Given the description of an element on the screen output the (x, y) to click on. 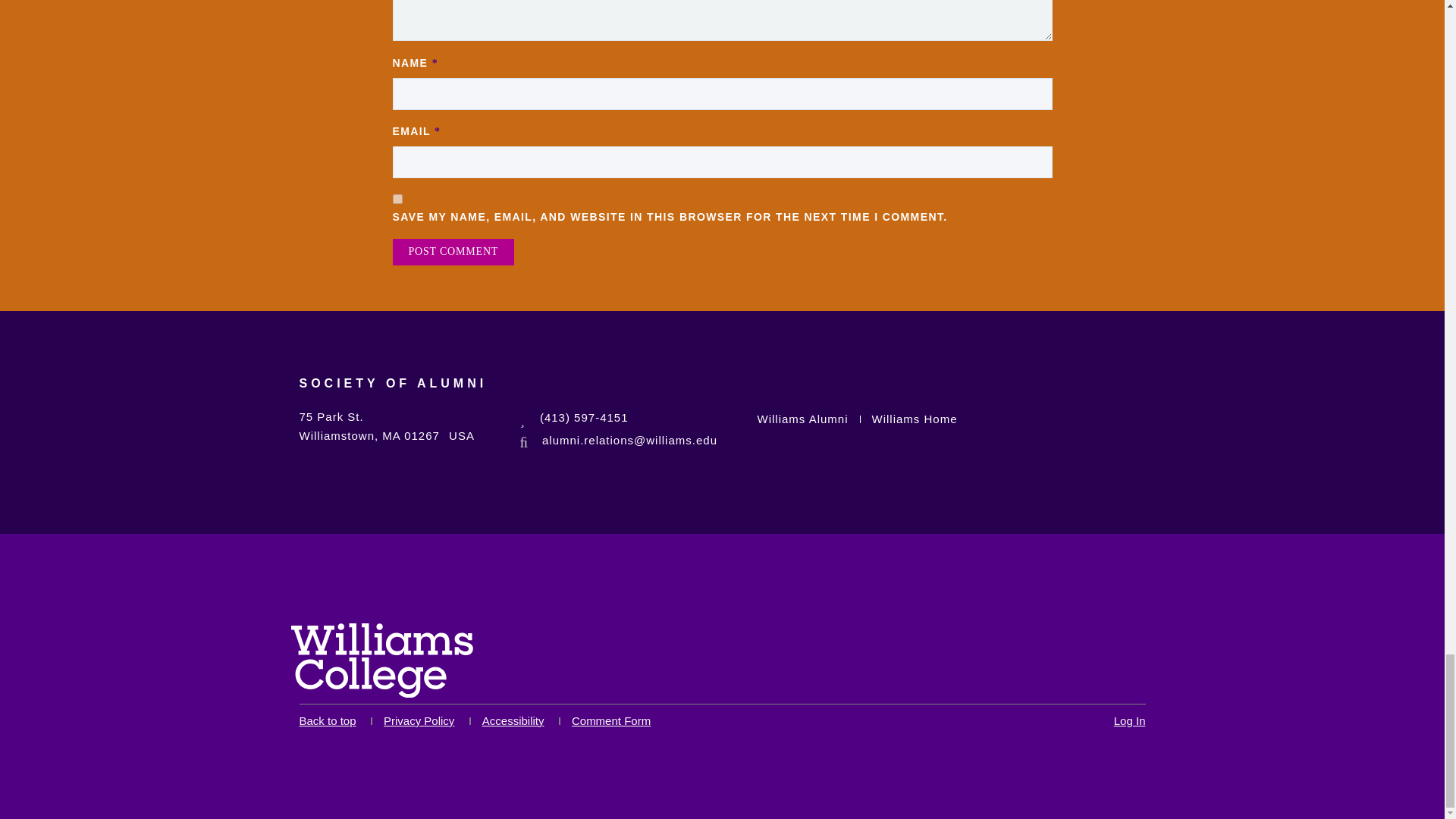
Go to Society of Alumni (392, 393)
Post Comment (454, 252)
Post Comment (454, 252)
yes (398, 198)
Williams College (382, 660)
Go to Williams College (382, 663)
SOCIETY OF ALUMNI (392, 393)
